Given the description of an element on the screen output the (x, y) to click on. 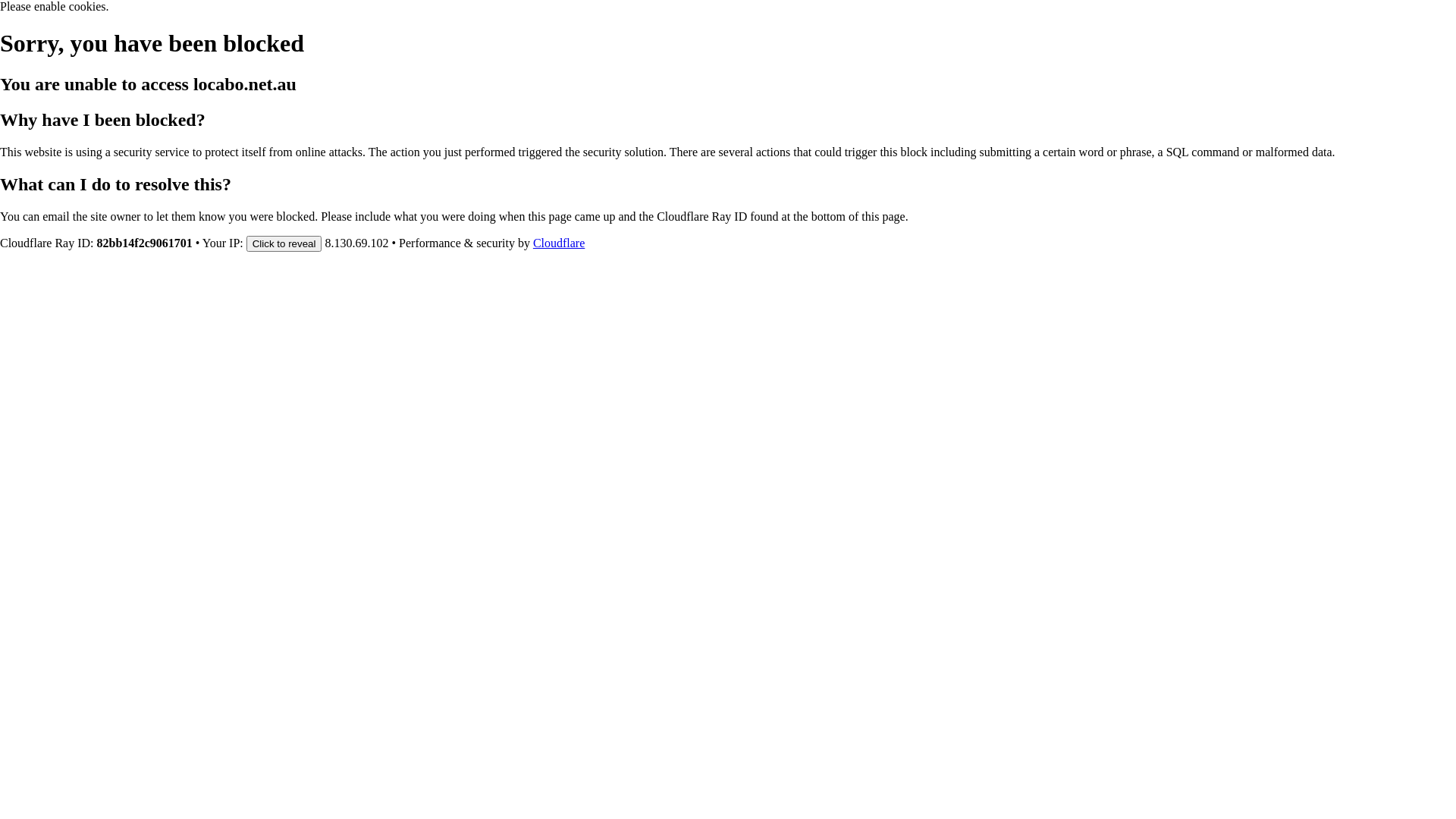
Cloudflare Element type: text (558, 242)
Click to reveal Element type: text (284, 243)
